Given the description of an element on the screen output the (x, y) to click on. 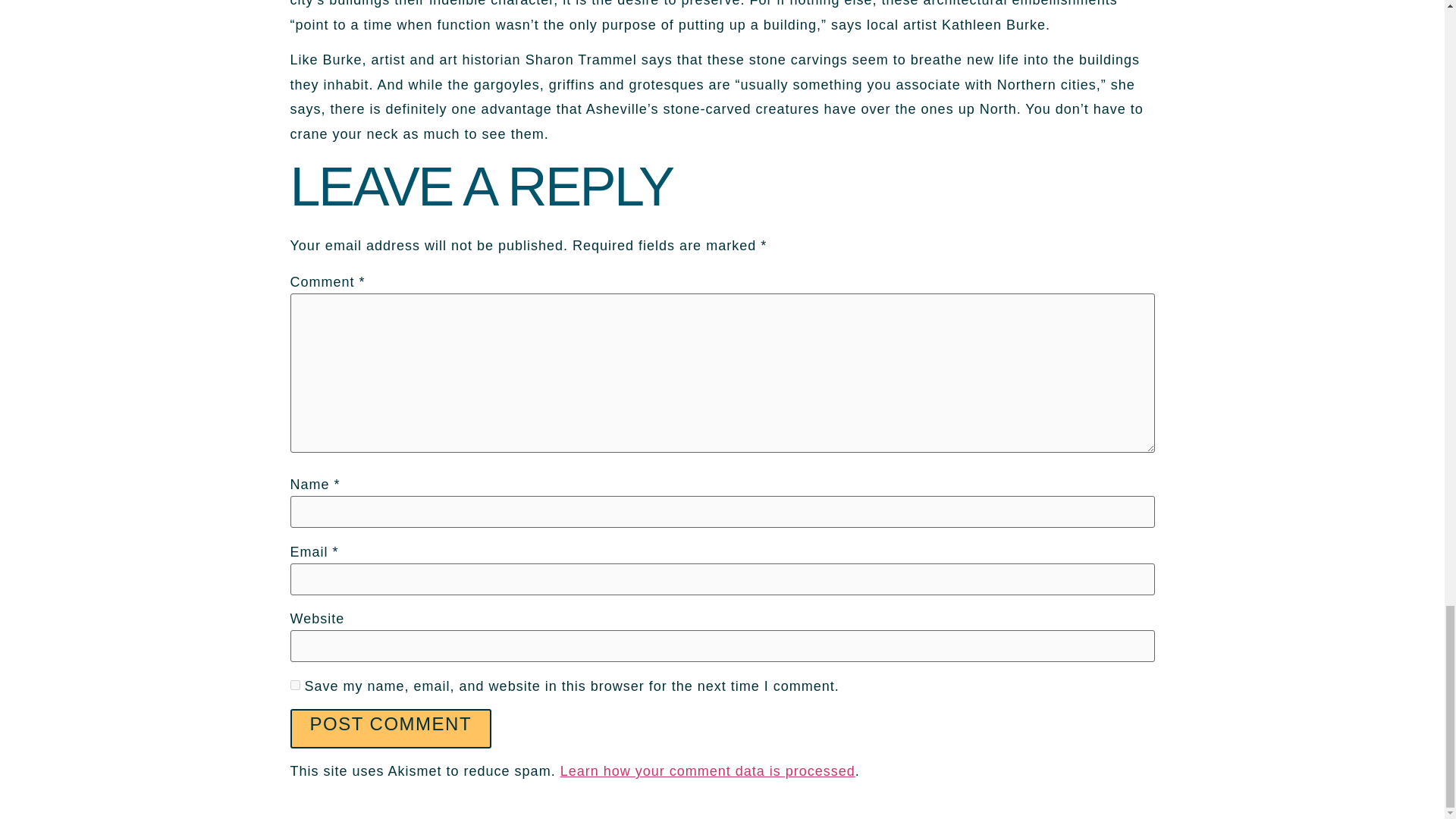
Post Comment (390, 728)
yes (294, 685)
Post Comment (390, 728)
Learn how your comment data is processed (708, 770)
